Given the description of an element on the screen output the (x, y) to click on. 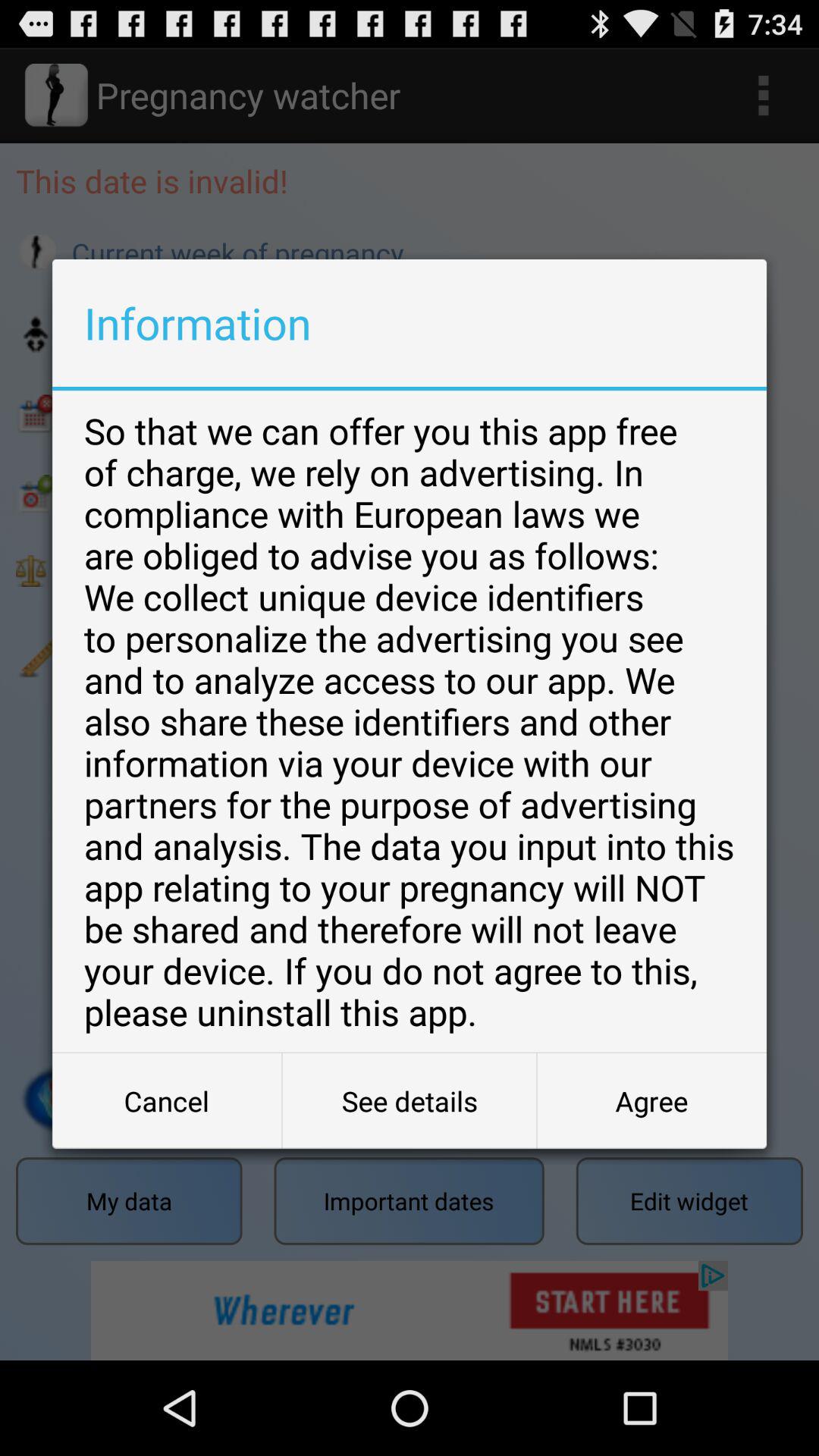
choose the icon to the right of the see details button (651, 1100)
